Given the description of an element on the screen output the (x, y) to click on. 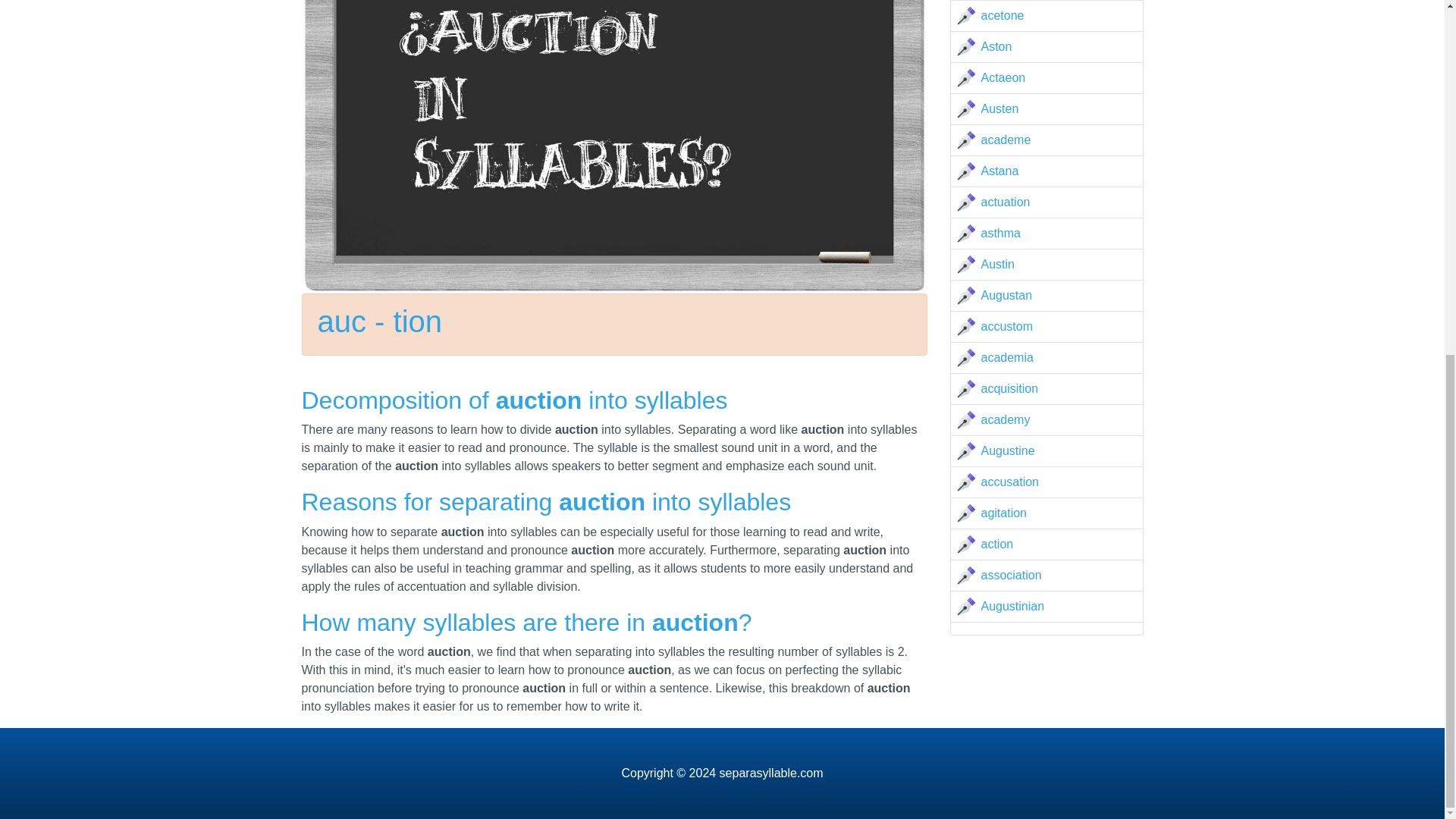
Actaeon (1003, 77)
accusation (1010, 481)
asthma (1000, 232)
Austin (997, 264)
Astana (1000, 170)
actuation (1005, 201)
agitation (1004, 512)
acquisition (1010, 388)
acetone (1003, 15)
Augustine (1008, 450)
Aston (996, 46)
Augustan (1006, 295)
academe (1005, 139)
academy (1005, 419)
Austen (1000, 108)
